Given the description of an element on the screen output the (x, y) to click on. 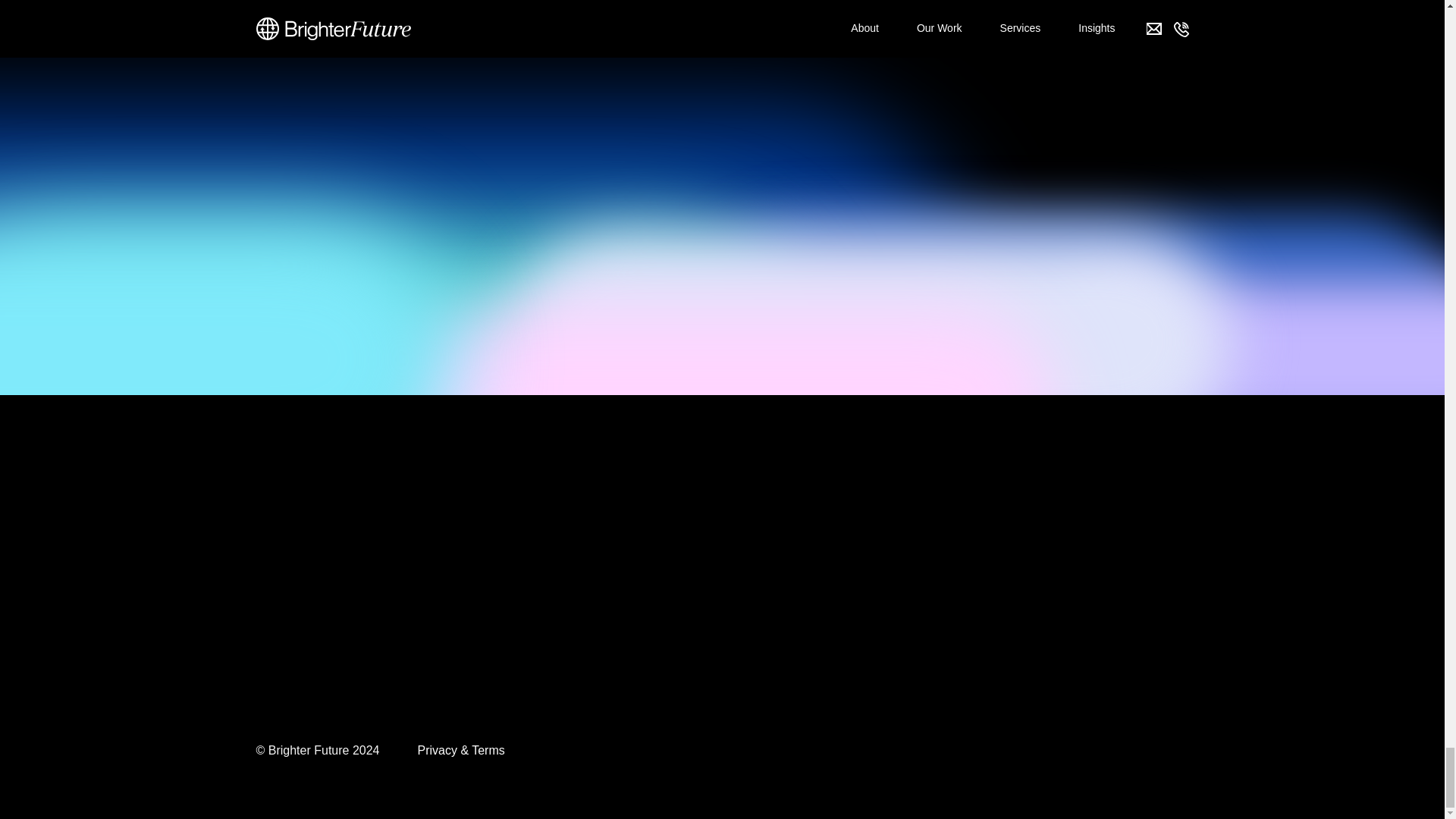
Submit (917, 684)
